Given the description of an element on the screen output the (x, y) to click on. 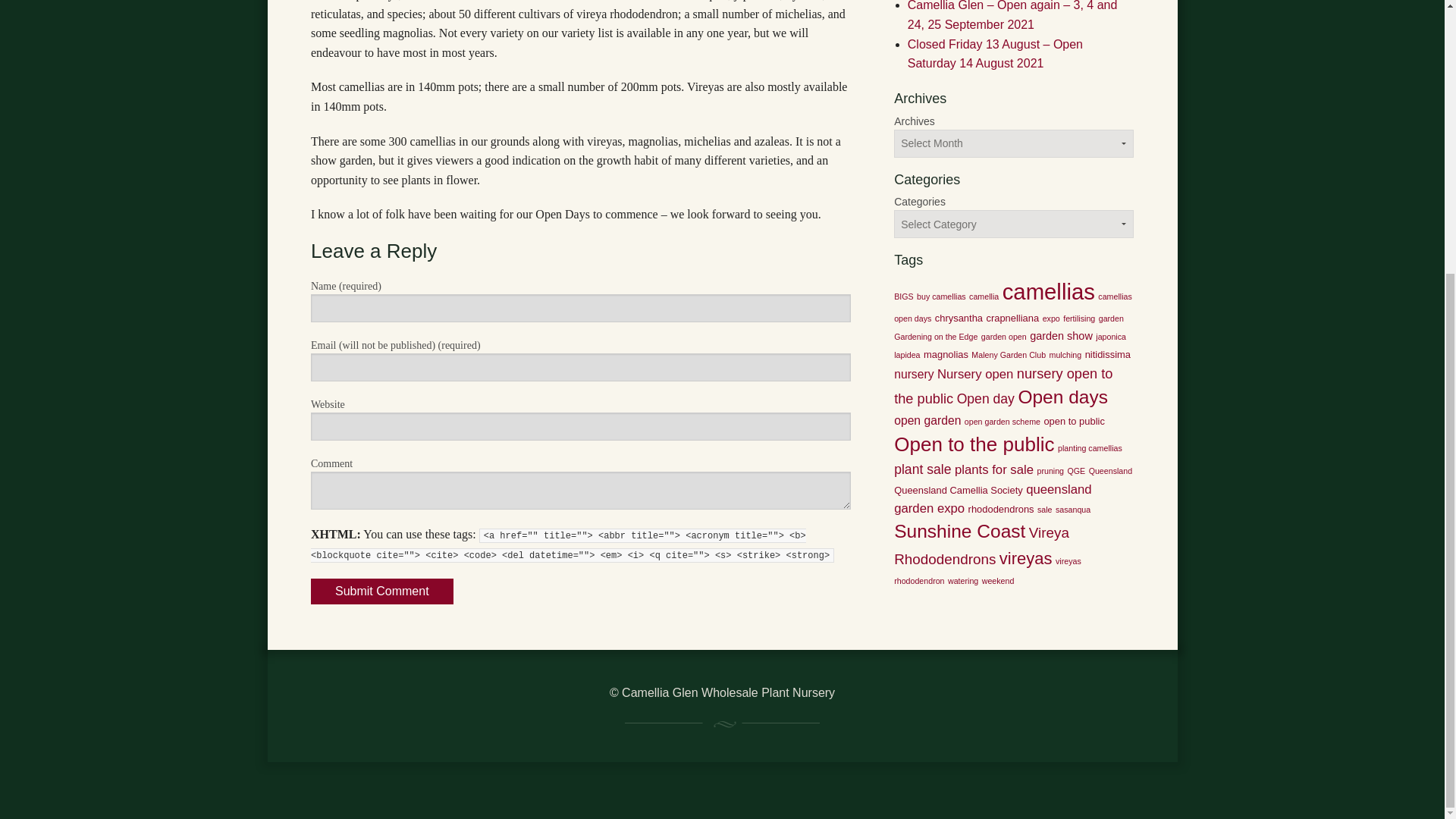
Submit Comment (381, 591)
